Given the description of an element on the screen output the (x, y) to click on. 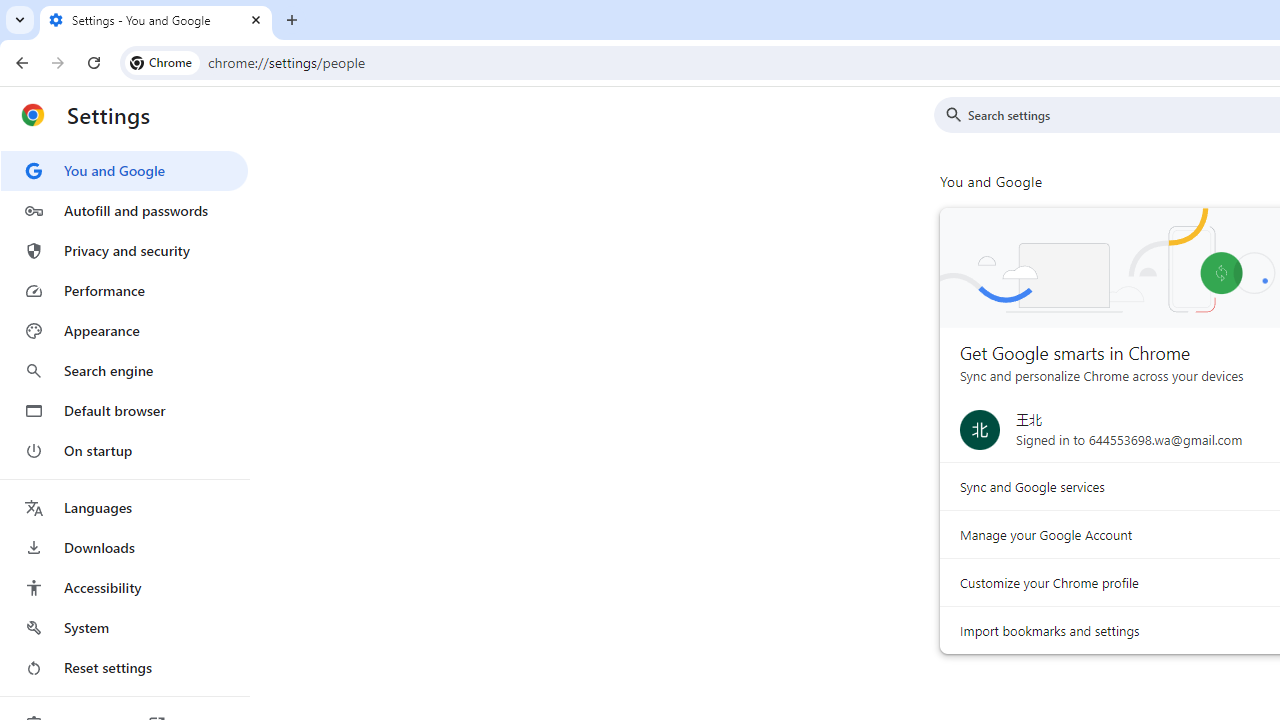
Languages (124, 507)
Settings - You and Google (156, 20)
Search engine (124, 370)
